Given the description of an element on the screen output the (x, y) to click on. 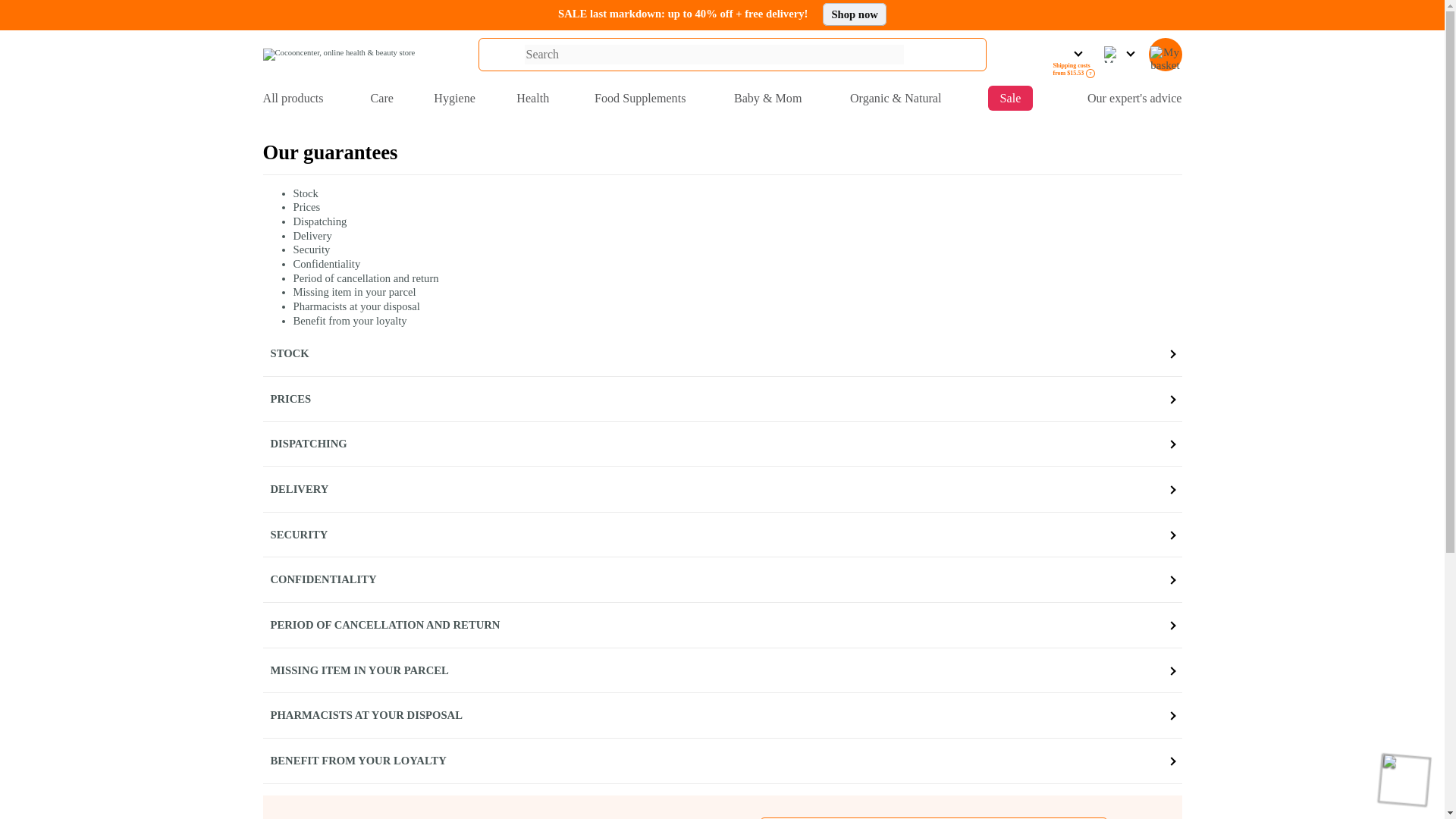
Shop now (854, 14)
